Given the description of an element on the screen output the (x, y) to click on. 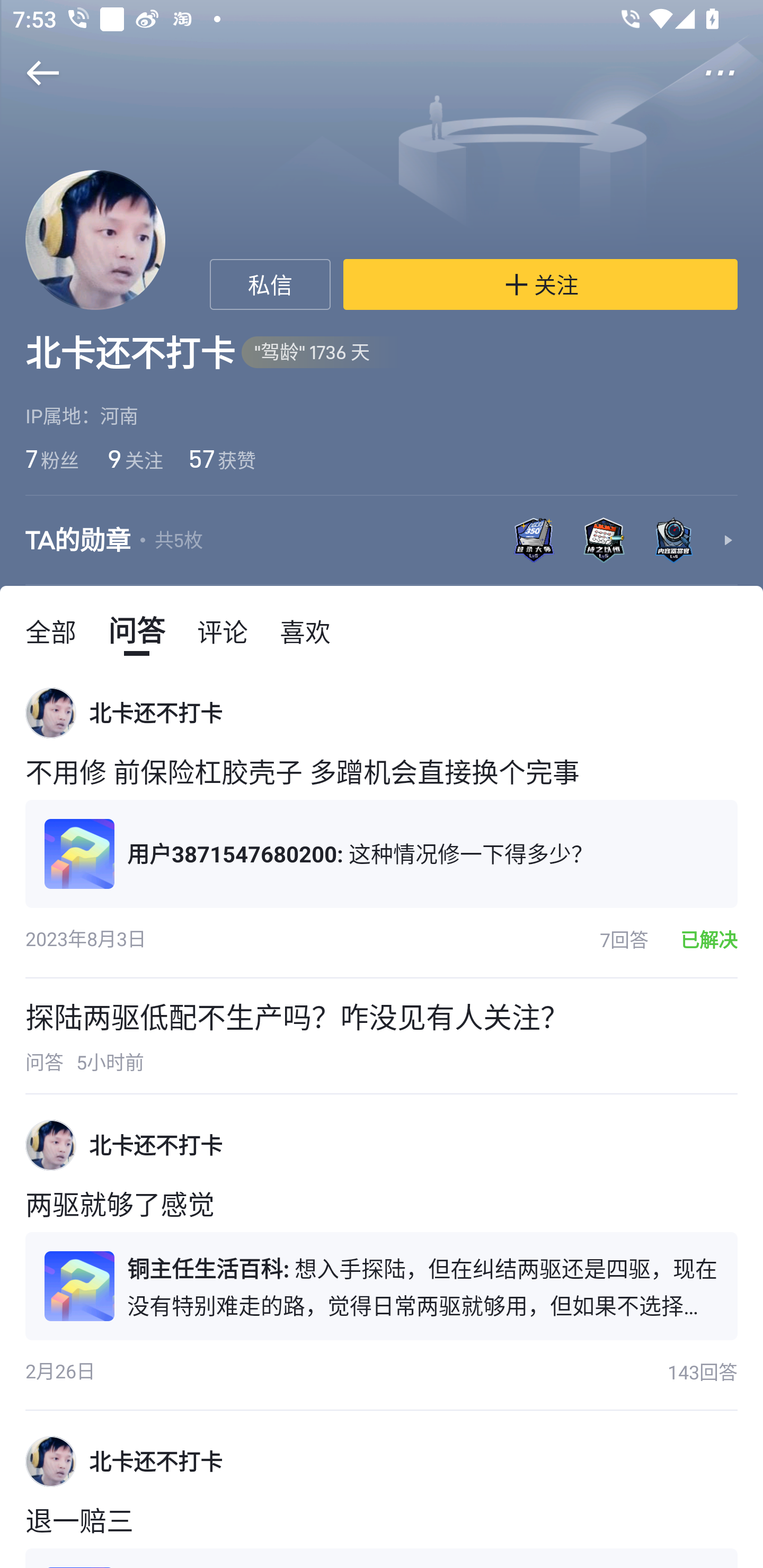
 (30, 72)
 (732, 72)
私信 (269, 284)
 关注 (540, 284)
"驾龄" 1736 天 (321, 352)
7 粉丝 (51, 458)
9 关注 (133, 458)
57 获赞 (221, 458)
TA的勋章 共5枚  (381, 539)
全部 (50, 629)
问答 (136, 629)
评论 (221, 629)
喜欢 (305, 629)
北卡还不打卡 (155, 713)
不用修 前保险杠胶壳子 多蹭机会直接换个完事 (381, 775)
用户3871547680200: 这种情况修一下得多少？ (381, 853)
探陆两驱低配不生产吗？咋没见有人关注？ 问答 5小时前 (381, 1036)
探陆两驱低配不生产吗？咋没见有人关注？ (297, 1016)
北卡还不打卡 (155, 1144)
两驱就够了感觉 (381, 1207)
北卡还不打卡 (155, 1461)
退一赔三 (381, 1524)
